Given the description of an element on the screen output the (x, y) to click on. 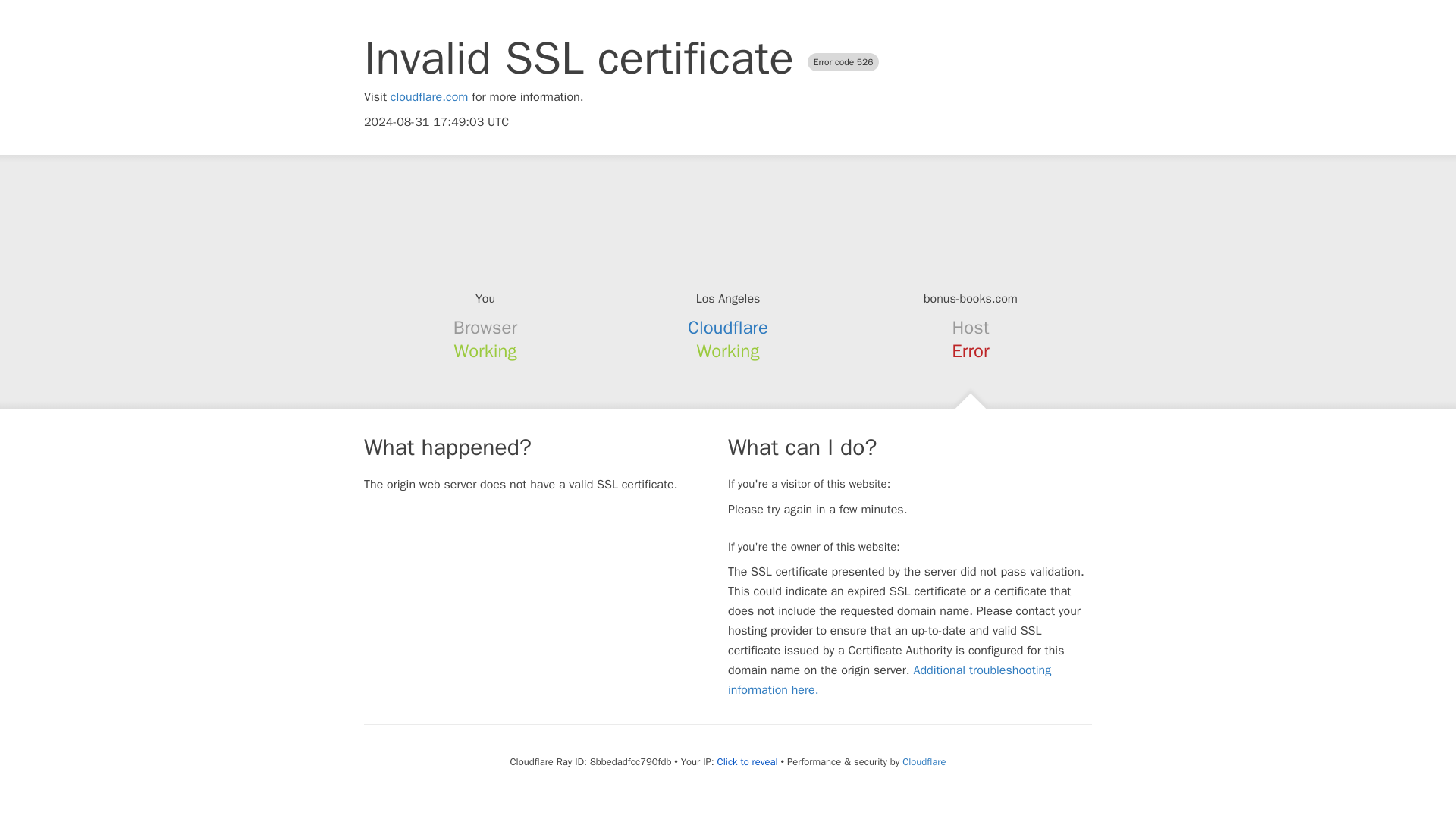
Cloudflare (923, 761)
Click to reveal (747, 762)
Additional troubleshooting information here. (889, 679)
Cloudflare (727, 327)
cloudflare.com (429, 96)
